Given the description of an element on the screen output the (x, y) to click on. 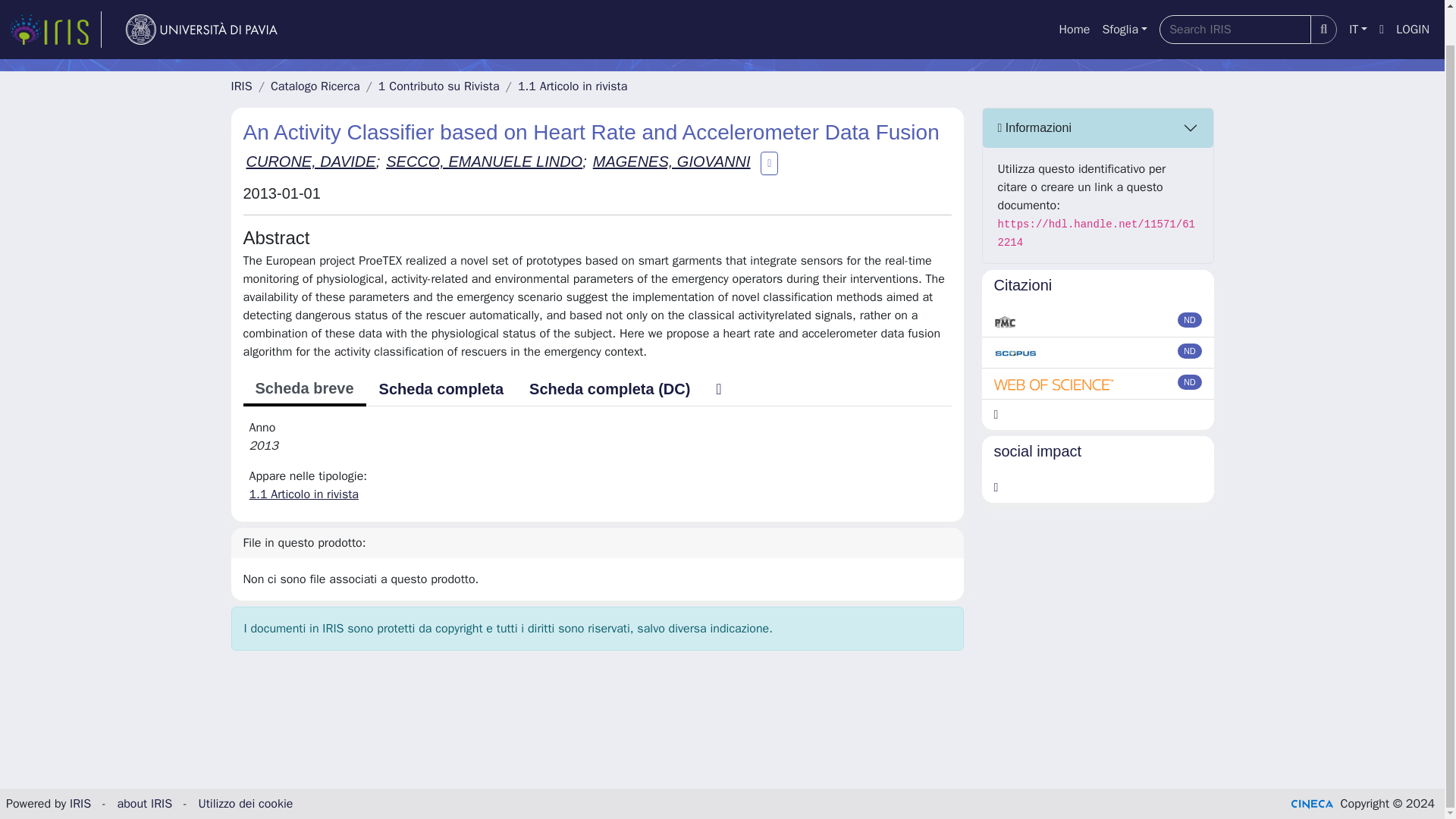
IRIS (240, 86)
1 Contributo su Rivista (438, 86)
1.1 Articolo in rivista (303, 494)
Scheda completa (441, 388)
Scheda breve (304, 389)
Sfoglia (1124, 4)
IT (1357, 4)
Home (1074, 4)
1.1 Articolo in rivista (572, 86)
 Informazioni (1097, 128)
